Given the description of an element on the screen output the (x, y) to click on. 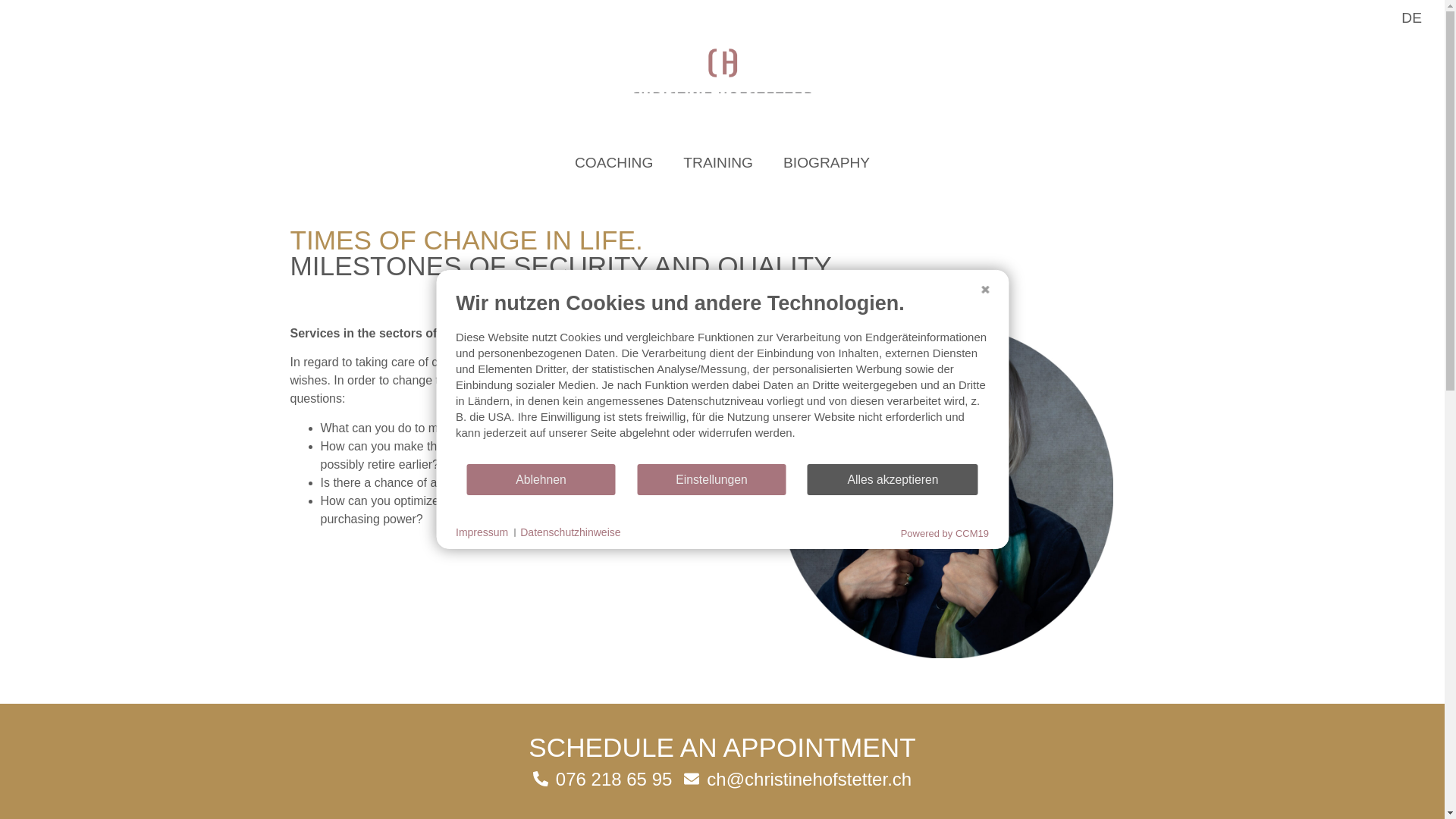
BIOGRAPHY (826, 162)
Datenschutzhinweise (569, 532)
Alles akzeptieren (893, 479)
Close (984, 282)
DE (1411, 18)
076 218 65 95 (601, 779)
Ablehnen (540, 479)
Einstellungen (711, 479)
Powered by CCM19 (944, 532)
Impressum (481, 532)
TRAINING (718, 162)
COACHING (613, 162)
